Given the description of an element on the screen output the (x, y) to click on. 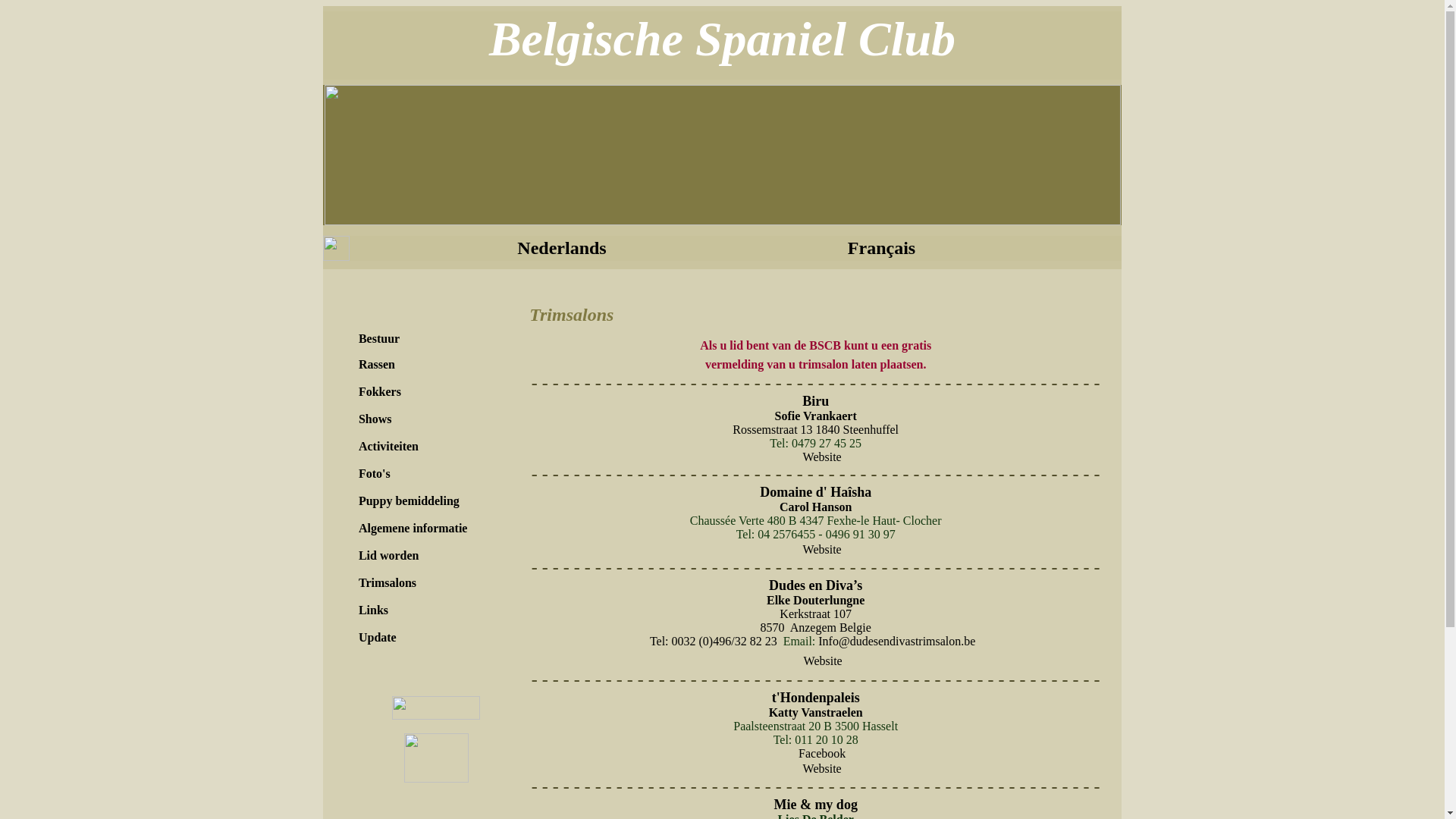
Algemene informatie Element type: text (412, 528)
Activiteiten Element type: text (388, 446)
Website Element type: text (822, 457)
Links Element type: text (373, 610)
Trimsalons Element type: text (387, 583)
Puppy bemiddeling Element type: text (408, 501)
Website Element type: text (822, 661)
Website Element type: text (822, 549)
Nederlands Element type: text (561, 250)
Rassen Element type: text (376, 364)
Fokkers Element type: text (379, 391)
Lid worden Element type: text (388, 555)
Website Element type: text (822, 768)
Update Element type: text (377, 637)
Foto's Element type: text (374, 473)
Bestuur Element type: text (378, 338)
Facebook Element type: text (821, 753)
Shows Element type: text (375, 419)
